Given the description of an element on the screen output the (x, y) to click on. 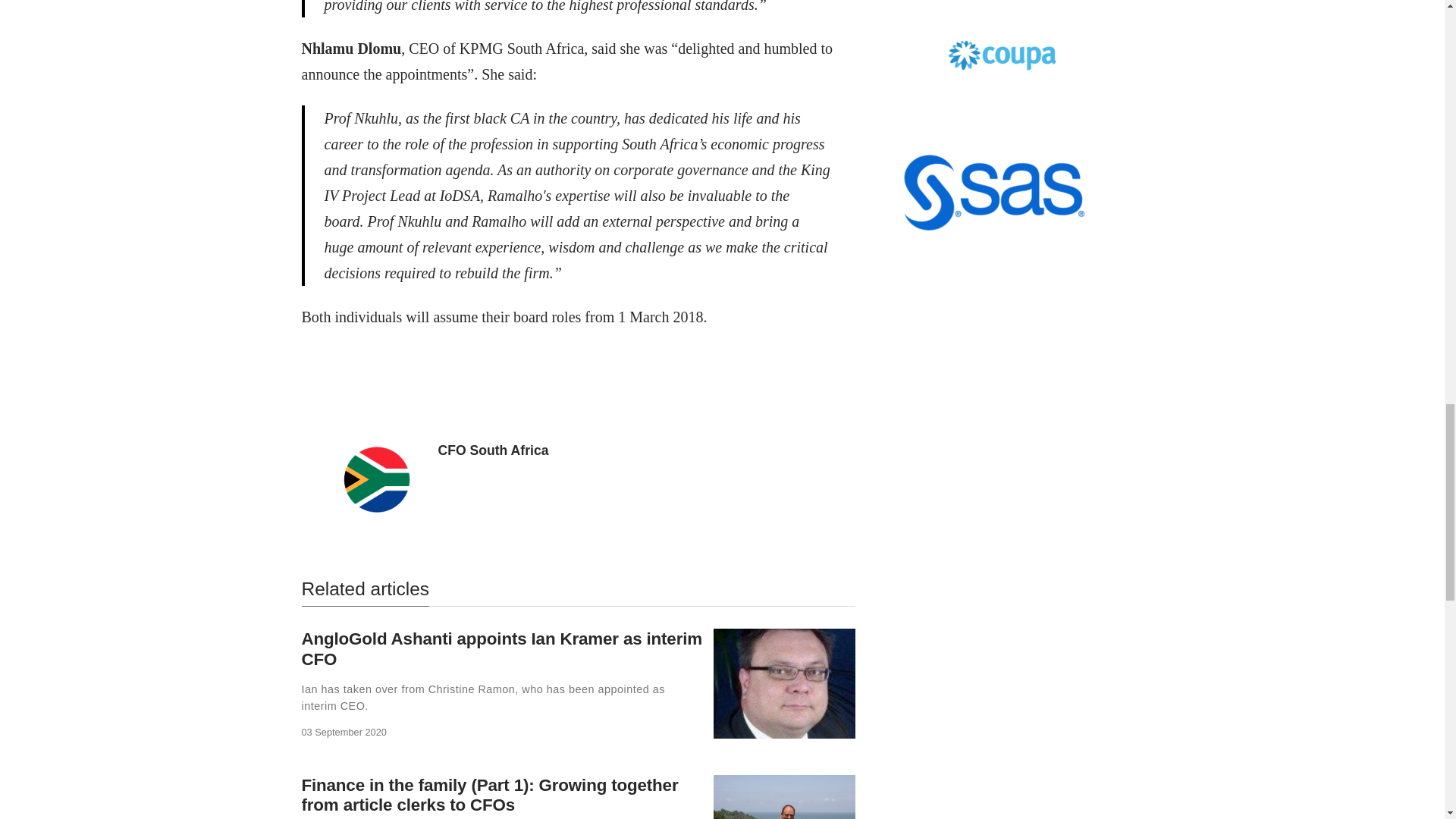
CFO South Africa (493, 450)
AngloGold Ashanti appoints Ian Kramer as interim CFO (501, 649)
CFO South Africa (493, 450)
